Given the description of an element on the screen output the (x, y) to click on. 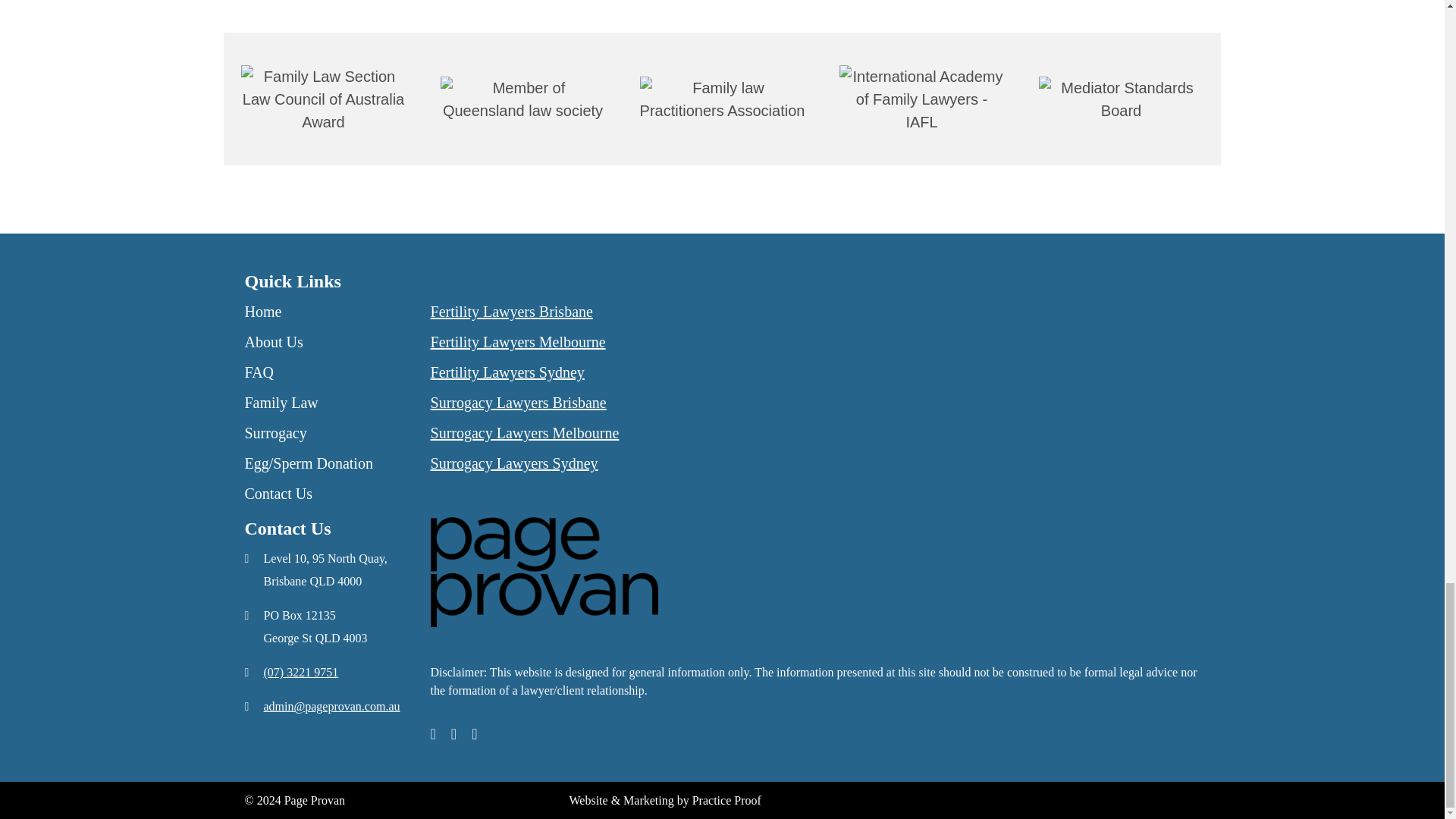
mediator-standards-board (1121, 99)
international-academy-of-family-lawyers (921, 99)
member-of-queensland-law-society (522, 99)
family-law-practitioners-association (722, 99)
family-law-section (323, 99)
